Given the description of an element on the screen output the (x, y) to click on. 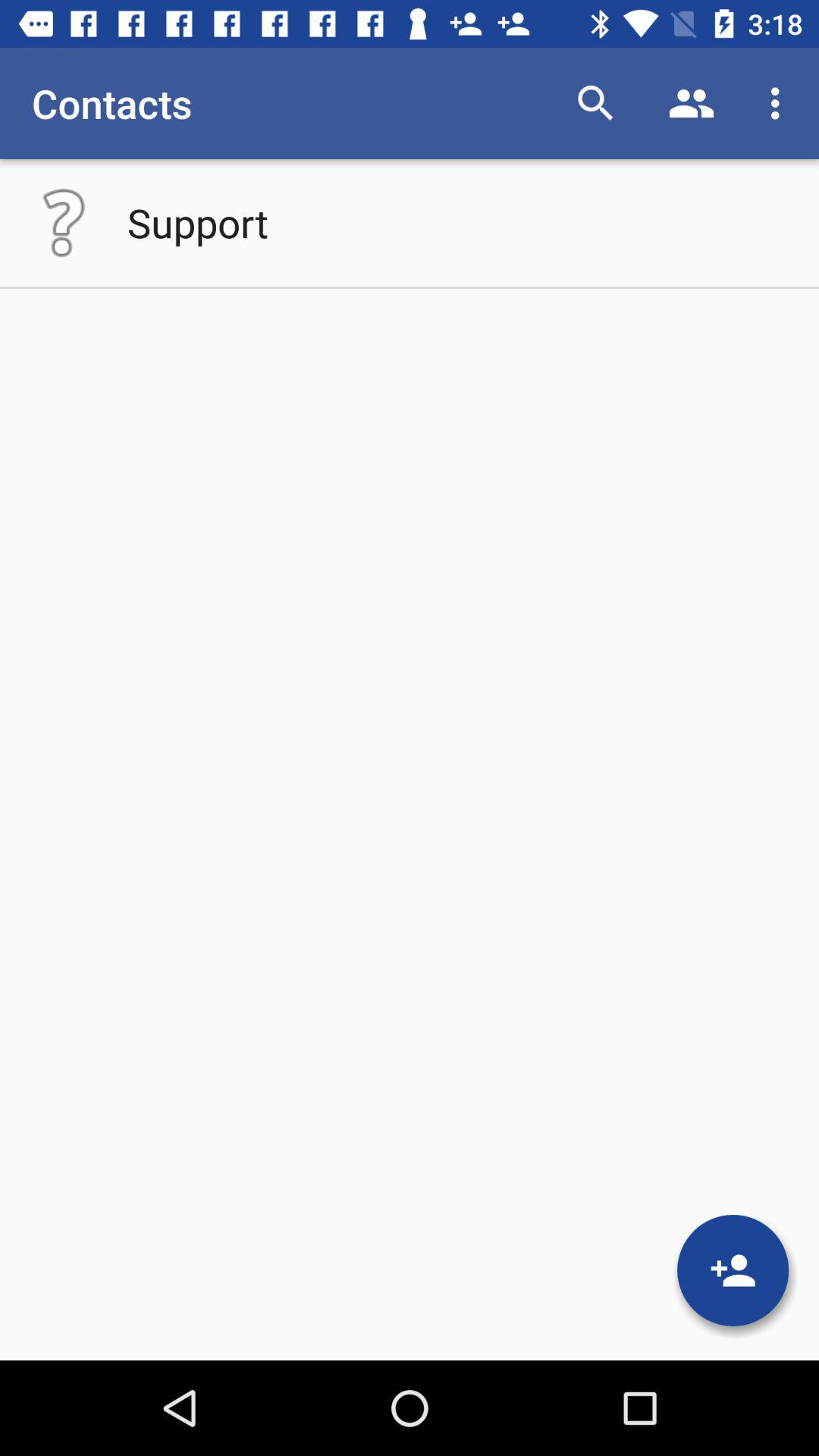
turn off icon next to the support app (63, 222)
